Given the description of an element on the screen output the (x, y) to click on. 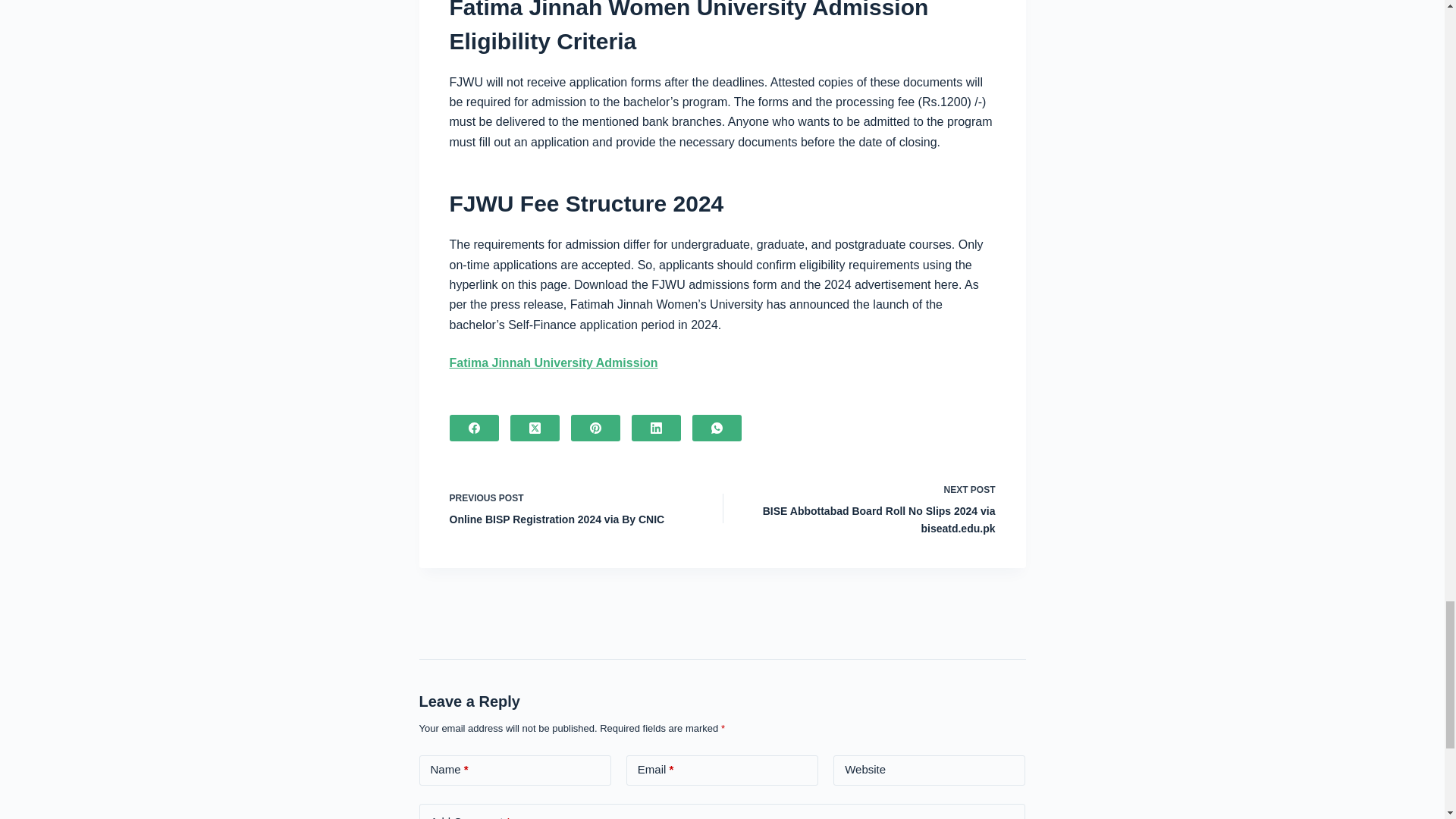
Fatima Jinnah University Admission (574, 508)
